Given the description of an element on the screen output the (x, y) to click on. 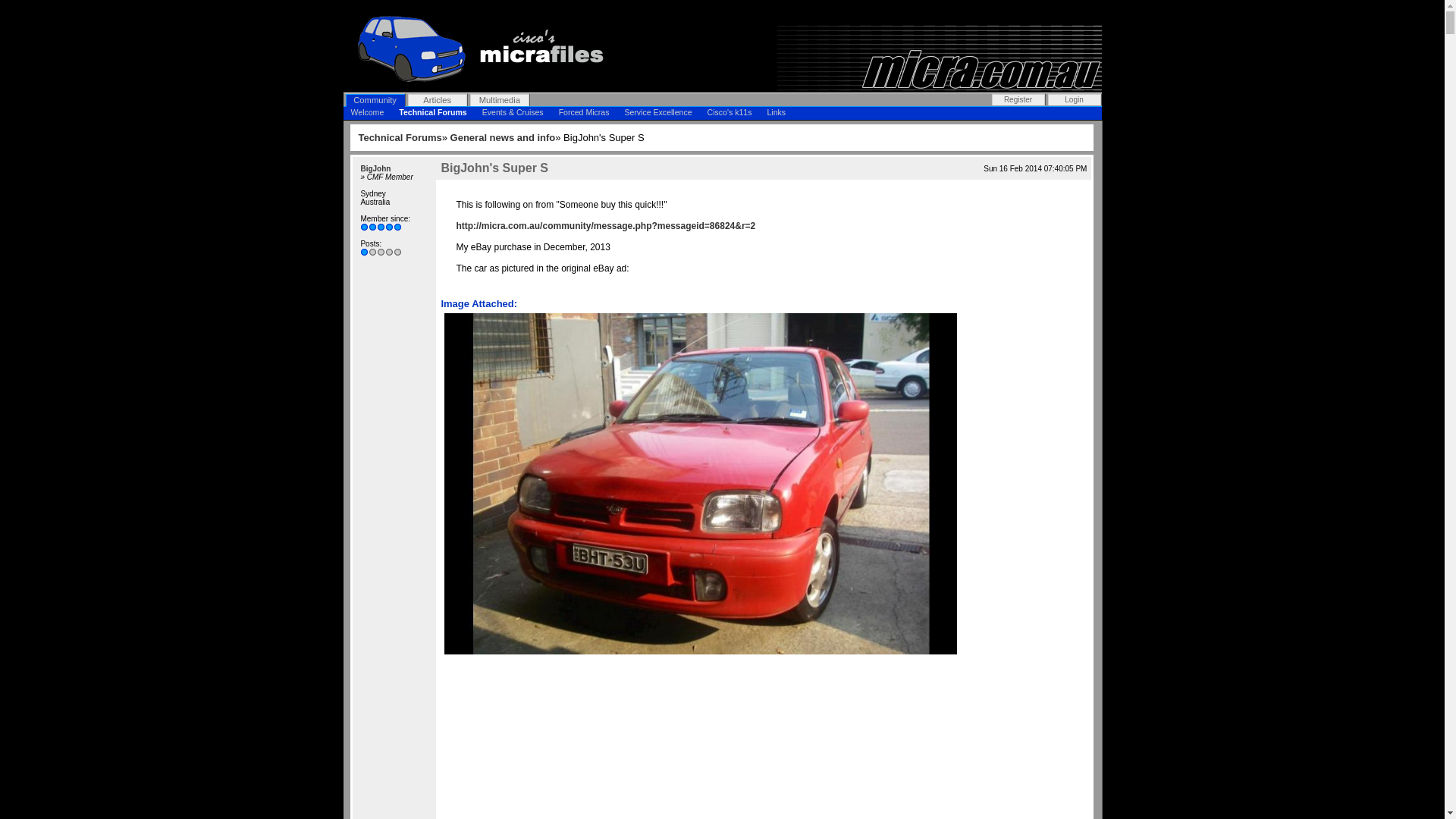
Service Excellence Element type: text (657, 112)
Forced Micras Element type: text (584, 112)
Login Element type: text (1074, 99)
Nissan Micra k11 technical performance - Cisco's Micra Files Element type: hover (477, 49)
Multimedia Element type: text (499, 100)
Links Element type: text (776, 112)
General news and info Element type: text (502, 137)
BigJohn Element type: text (375, 168)
Technical Forums Element type: text (432, 112)
Articles Element type: text (437, 100)
Welcome Element type: text (366, 112)
Events & Cruises Element type: text (512, 112)
Community Element type: text (374, 100)
Register Element type: text (1017, 99)
Cisco's k11s Element type: text (729, 112)
Technical Forums Element type: text (399, 137)
